Given the description of an element on the screen output the (x, y) to click on. 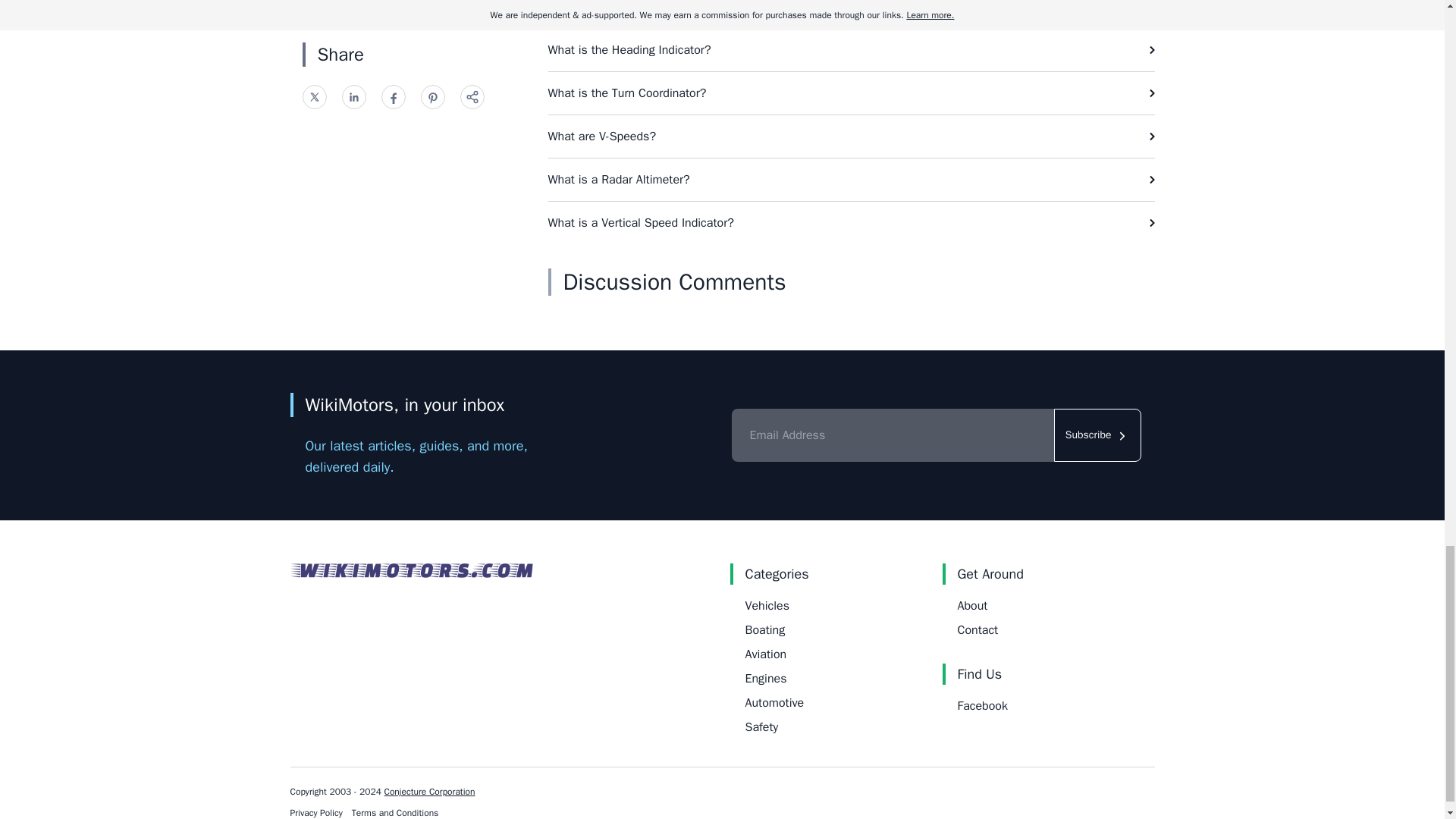
What is the Turn Coordinator? (850, 93)
What is the Heading Indicator? (850, 49)
What is an Attitude Indicator? (850, 13)
